Given the description of an element on the screen output the (x, y) to click on. 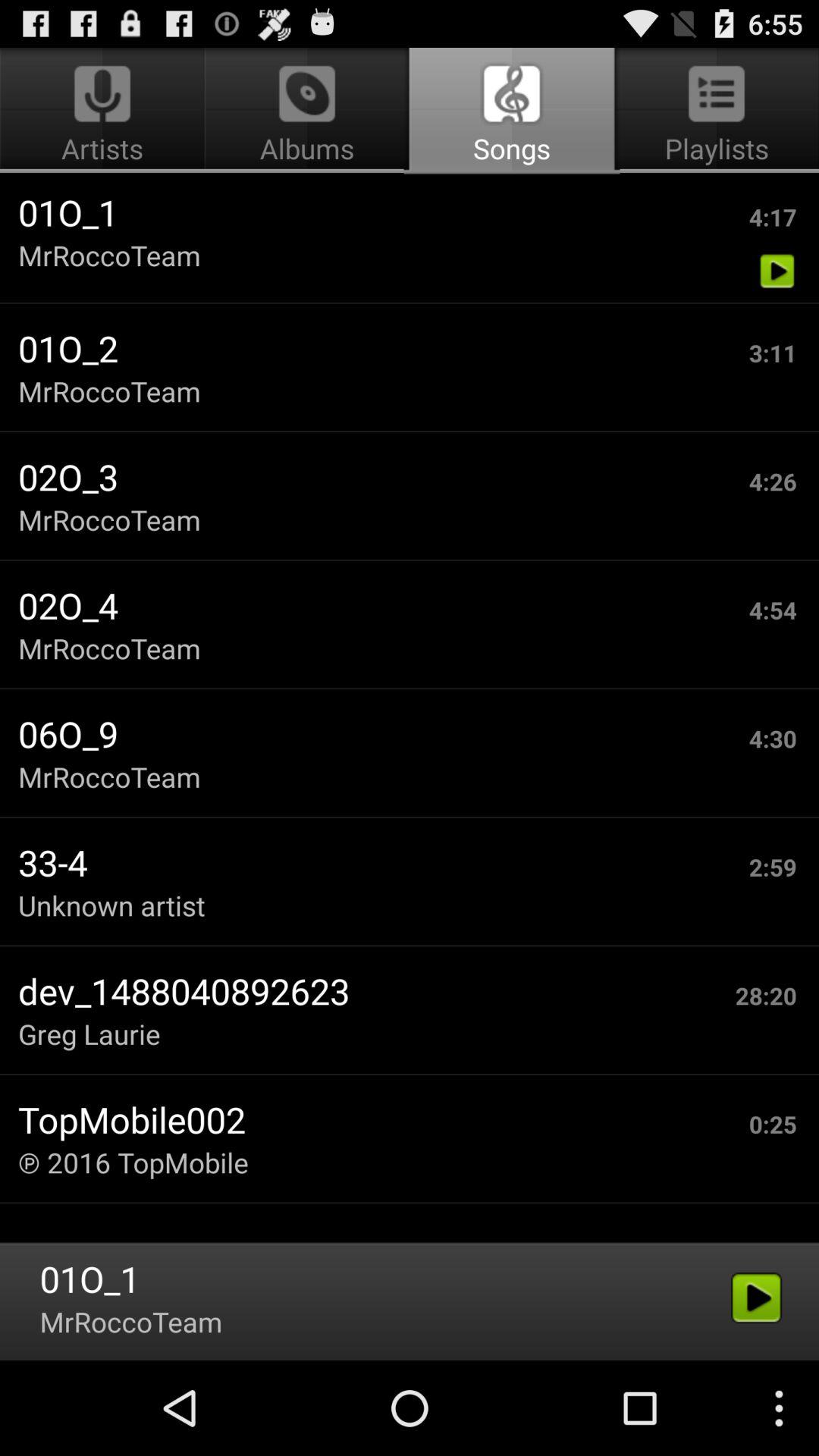
swipe until the songs app (511, 111)
